Given the description of an element on the screen output the (x, y) to click on. 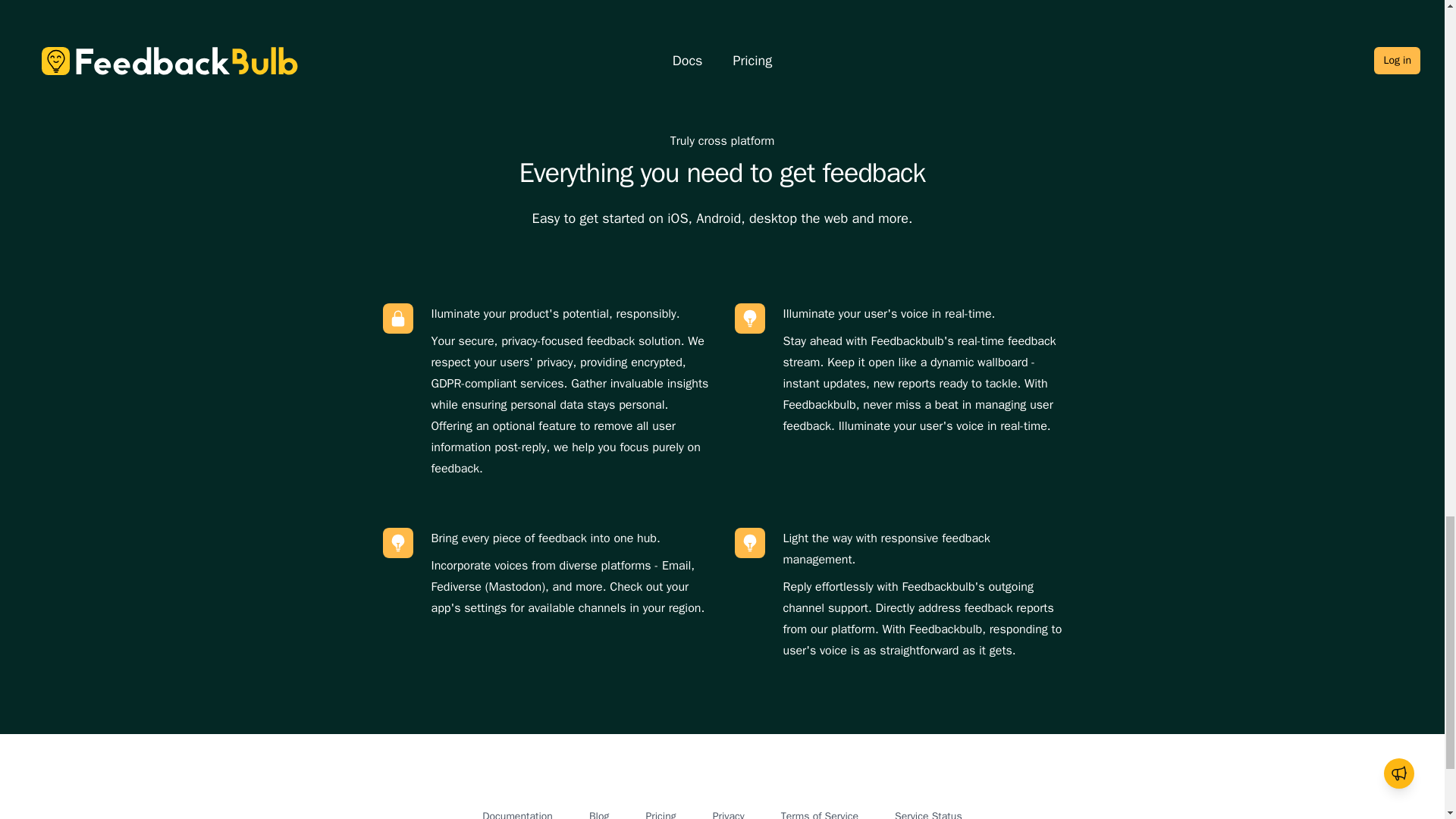
Pricing (660, 814)
Service Status (928, 814)
Documentation (517, 814)
Privacy (728, 814)
Blog (599, 814)
Terms of Service (819, 814)
